Given the description of an element on the screen output the (x, y) to click on. 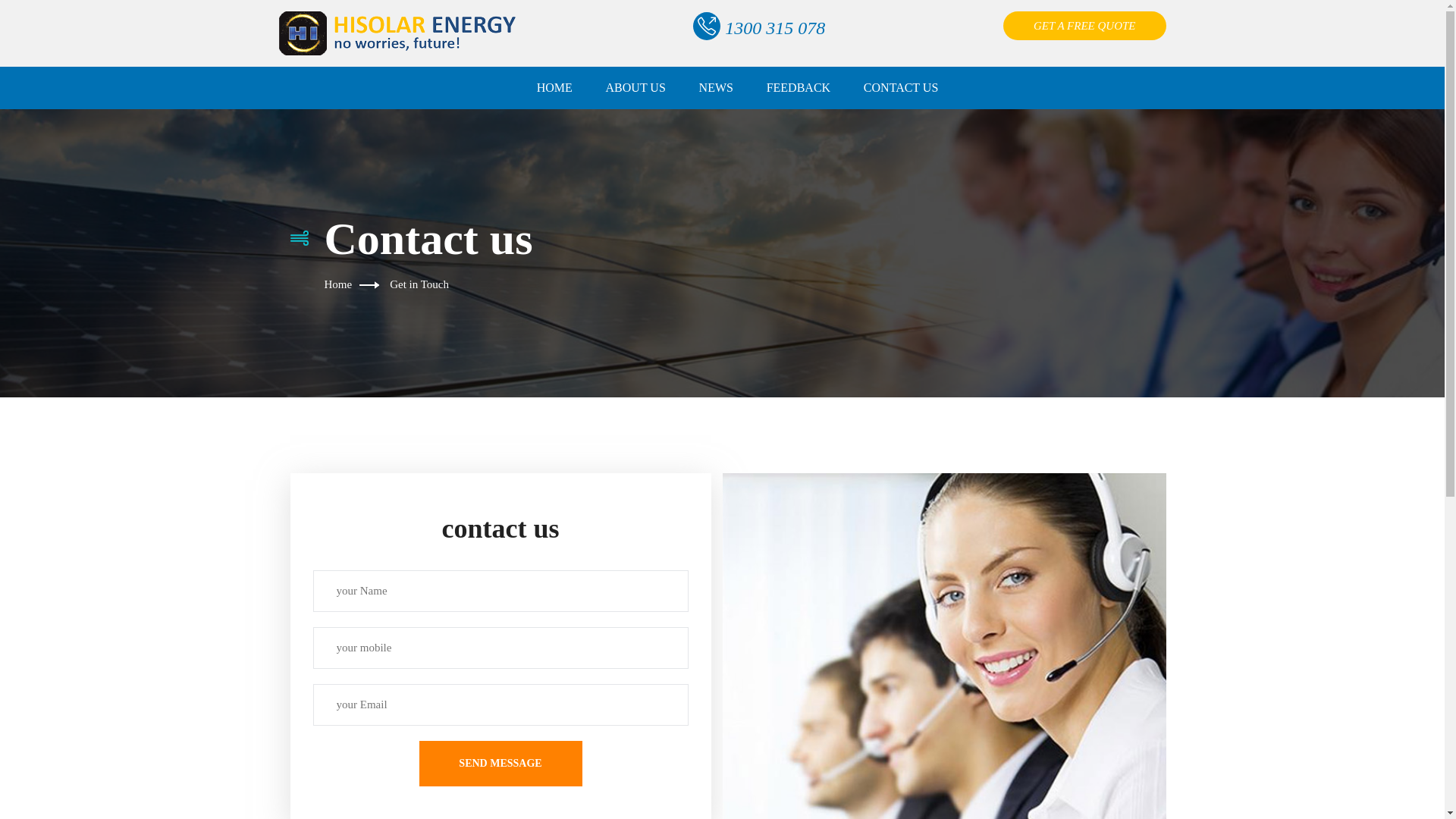
HOME Element type: text (554, 87)
CONTACT US Element type: text (900, 87)
GET A FREE QUOTE Element type: text (1084, 25)
SEND MESSAGE Element type: text (499, 763)
FEEDBACK Element type: text (798, 87)
NEWS Element type: text (716, 87)
ABOUT US Element type: text (635, 87)
Home Element type: text (338, 284)
